Given the description of an element on the screen output the (x, y) to click on. 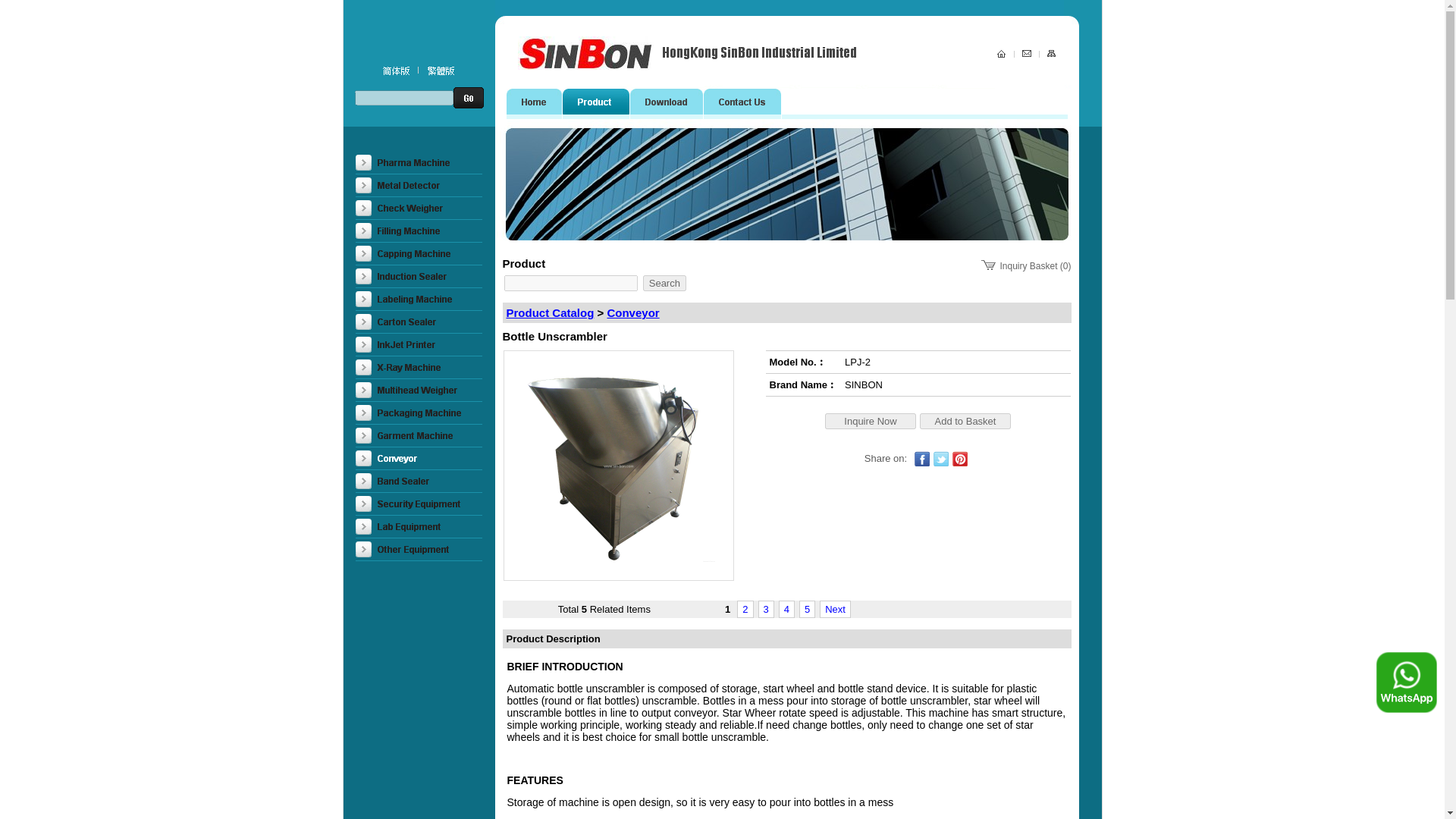
Search (664, 283)
Product Catalog (550, 312)
Conveyor (633, 312)
Add to Basket (965, 420)
Twitter (941, 458)
Next (835, 609)
Facebook (922, 458)
Search (664, 283)
Whatsapp (1406, 681)
Inquire Now (870, 420)
Pinterest (960, 458)
